Given the description of an element on the screen output the (x, y) to click on. 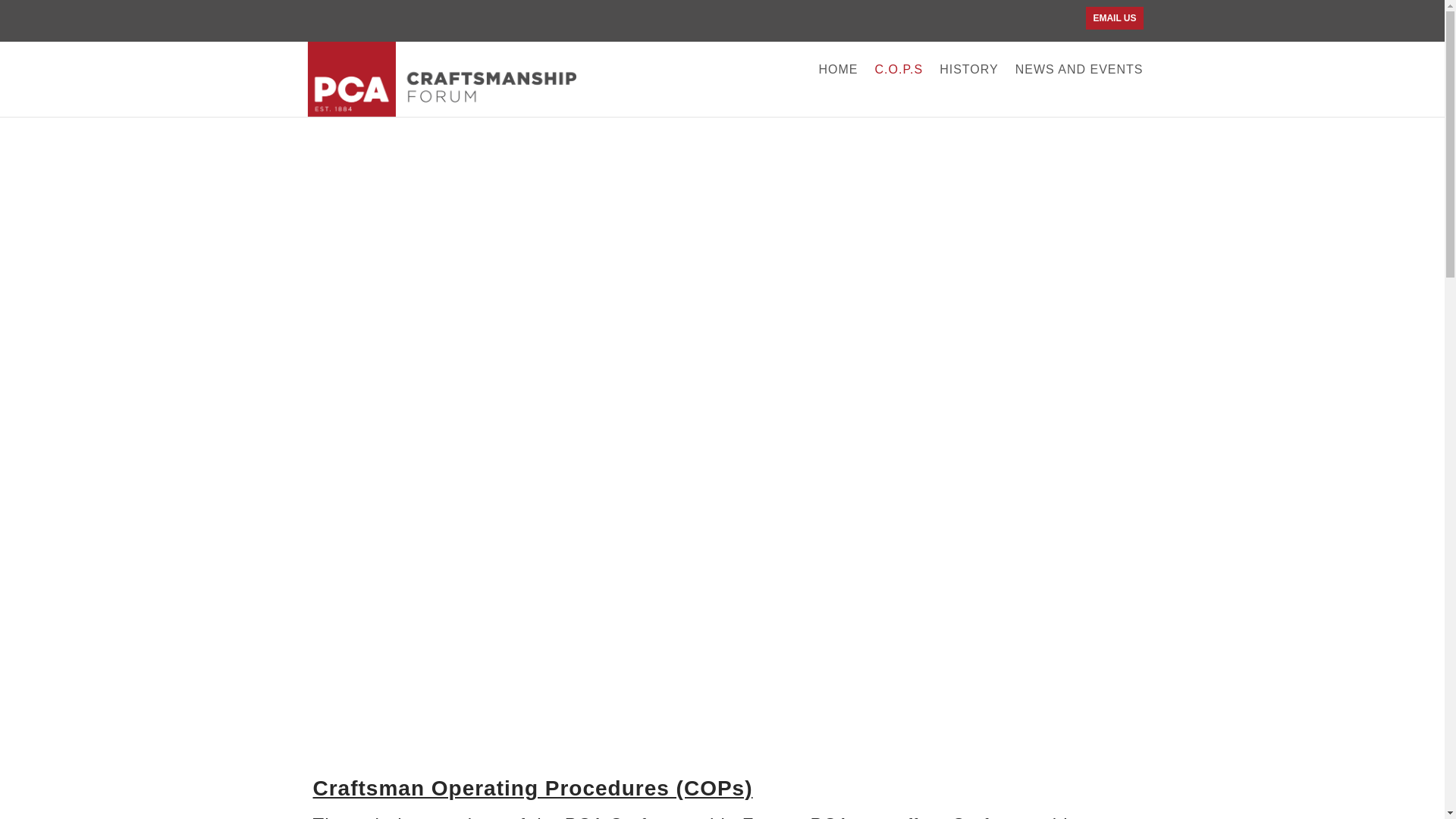
NEWS AND EVENTS (1078, 90)
EMAIL US (1114, 17)
C.O.P.S (899, 90)
HISTORY (968, 90)
